Given the description of an element on the screen output the (x, y) to click on. 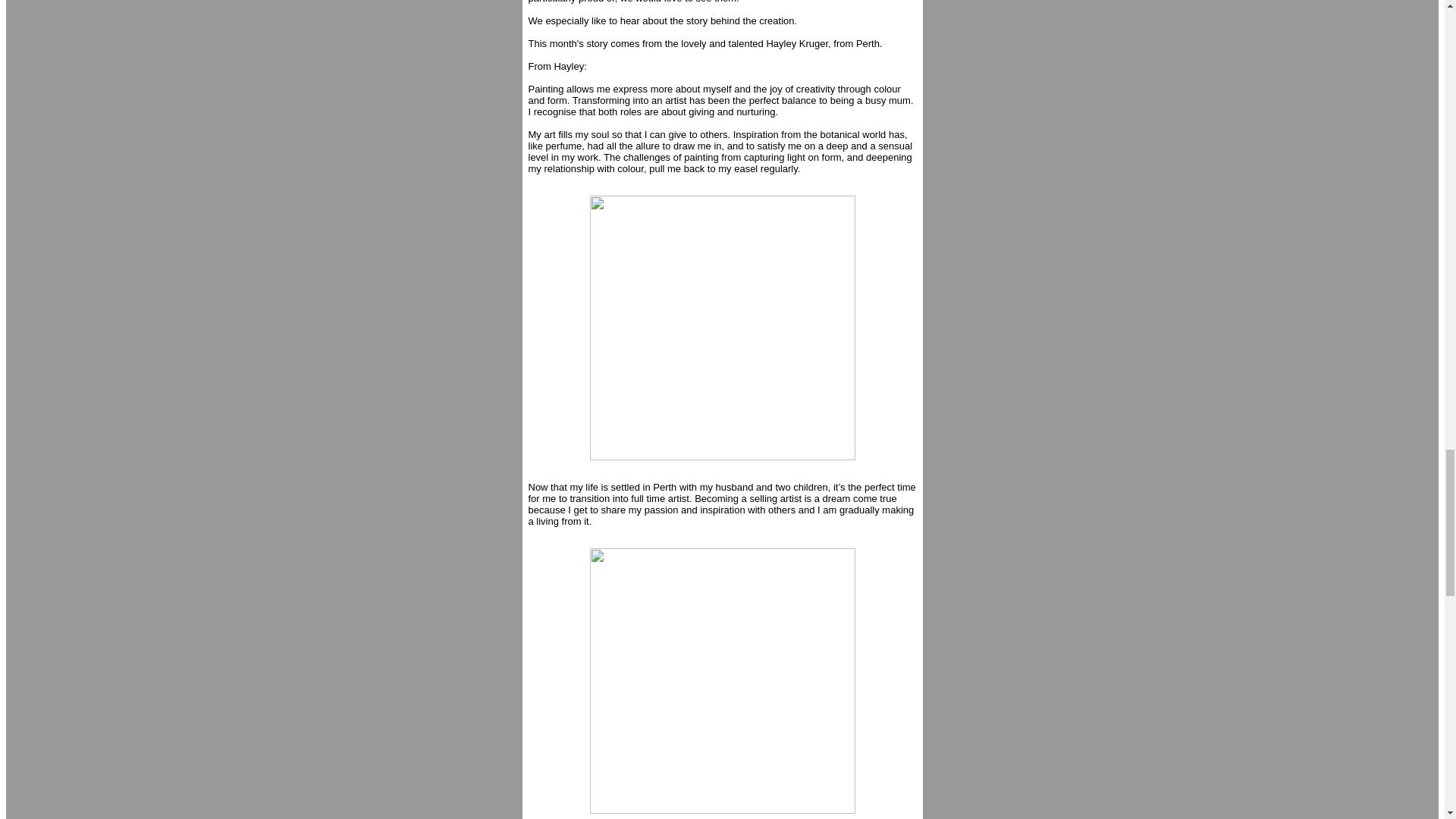
creation. (777, 20)
